Given the description of an element on the screen output the (x, y) to click on. 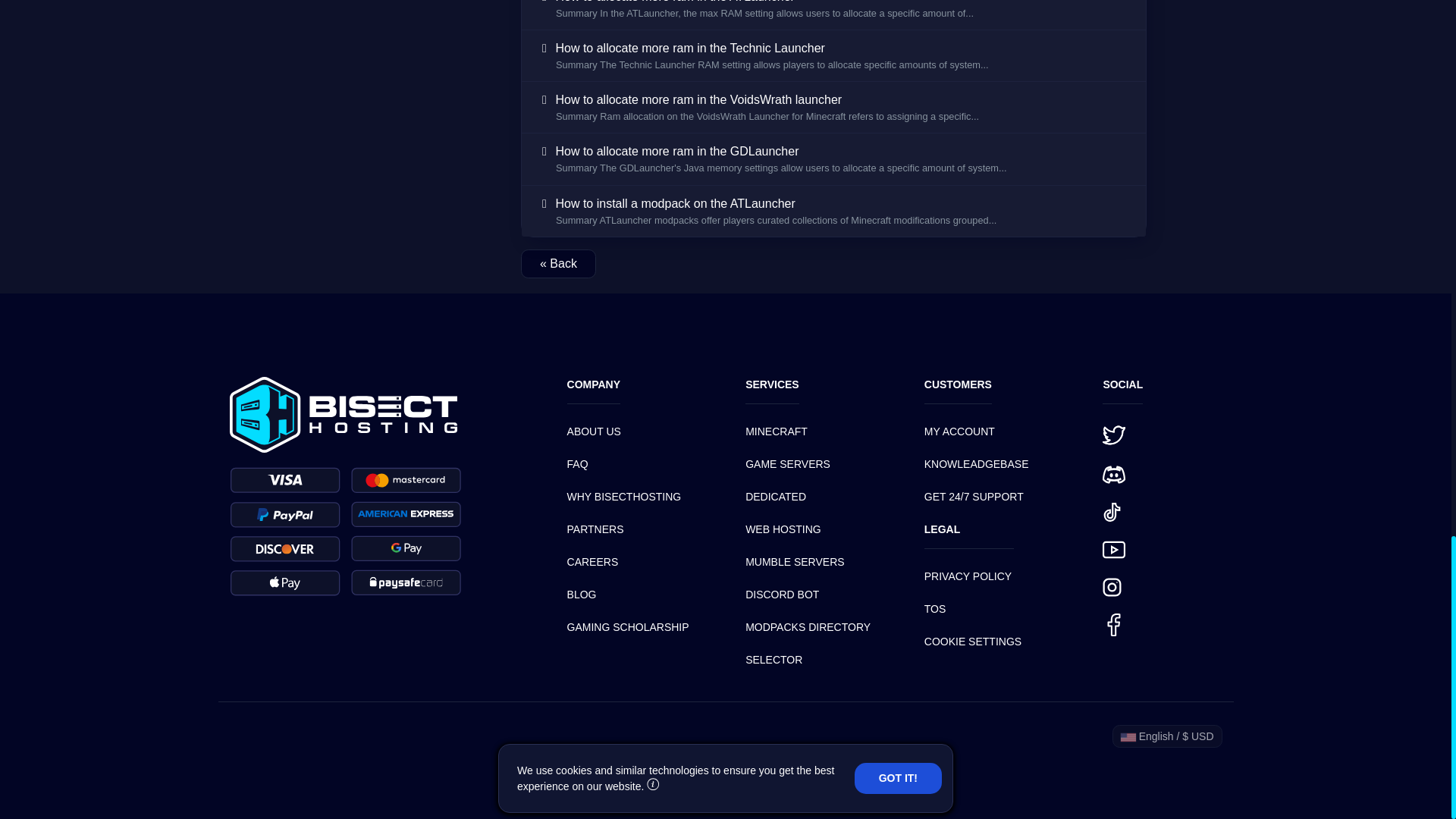
Youtube (1113, 549)
Facebook (1113, 624)
Twitter (1113, 435)
Instagram (1111, 587)
Discord (1113, 474)
Tiktok (1111, 511)
